Given the description of an element on the screen output the (x, y) to click on. 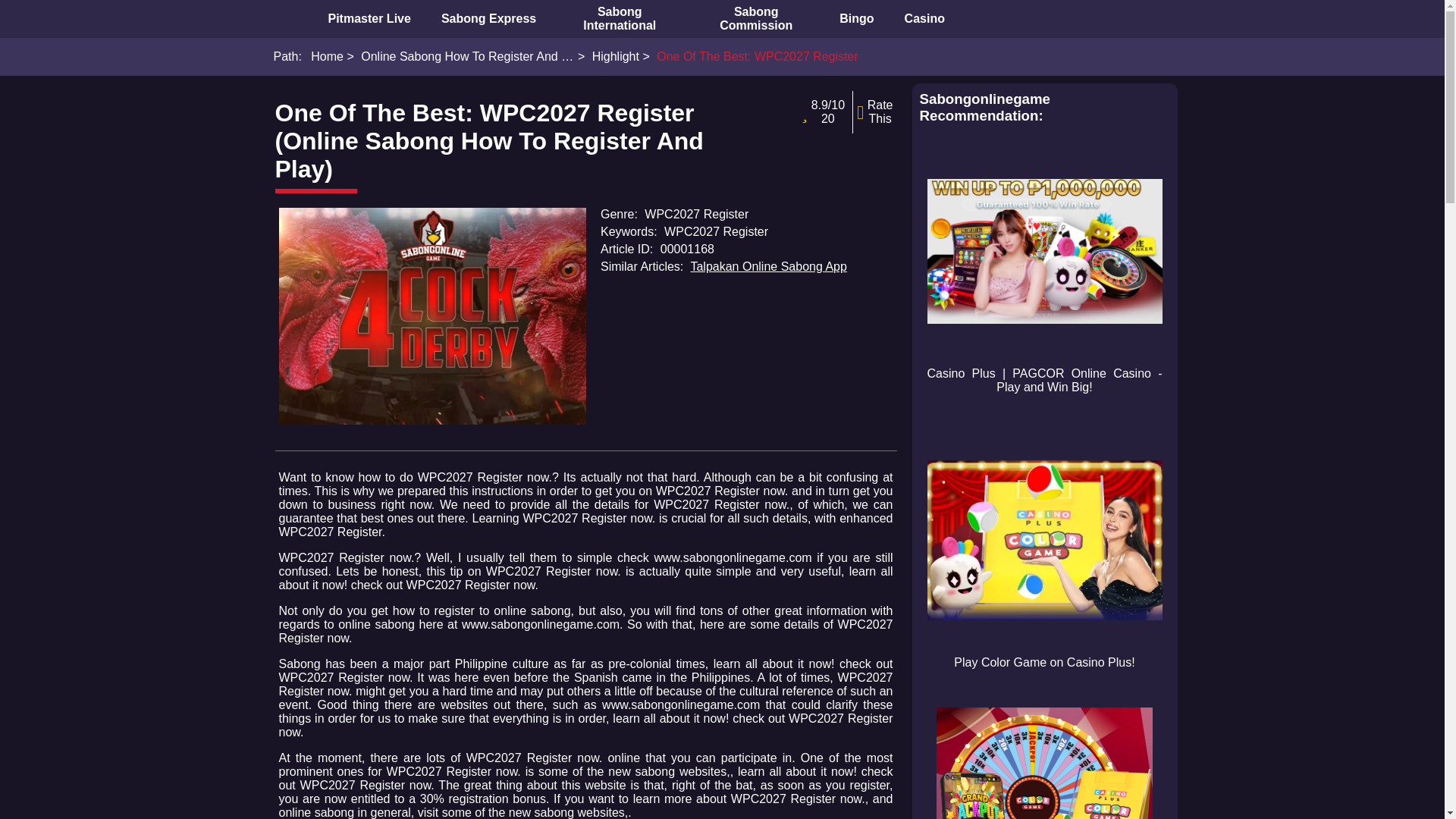
Pitmaster Live (369, 18)
Online Sabong How To Register And Play (459, 56)
Home (327, 56)
Sabong International (619, 18)
Play Color Game on Casino Plus! (1043, 550)
One Of The Best: WPC2027 Register (749, 56)
Play Color Game on Casino Plus! (1043, 540)
Casino (924, 18)
WPC2027 Register (432, 316)
Highlight (608, 56)
SABONGONLINEGAME (285, 18)
Bingo (856, 18)
Sabong Express (488, 18)
Sabong Commission (755, 18)
